Given the description of an element on the screen output the (x, y) to click on. 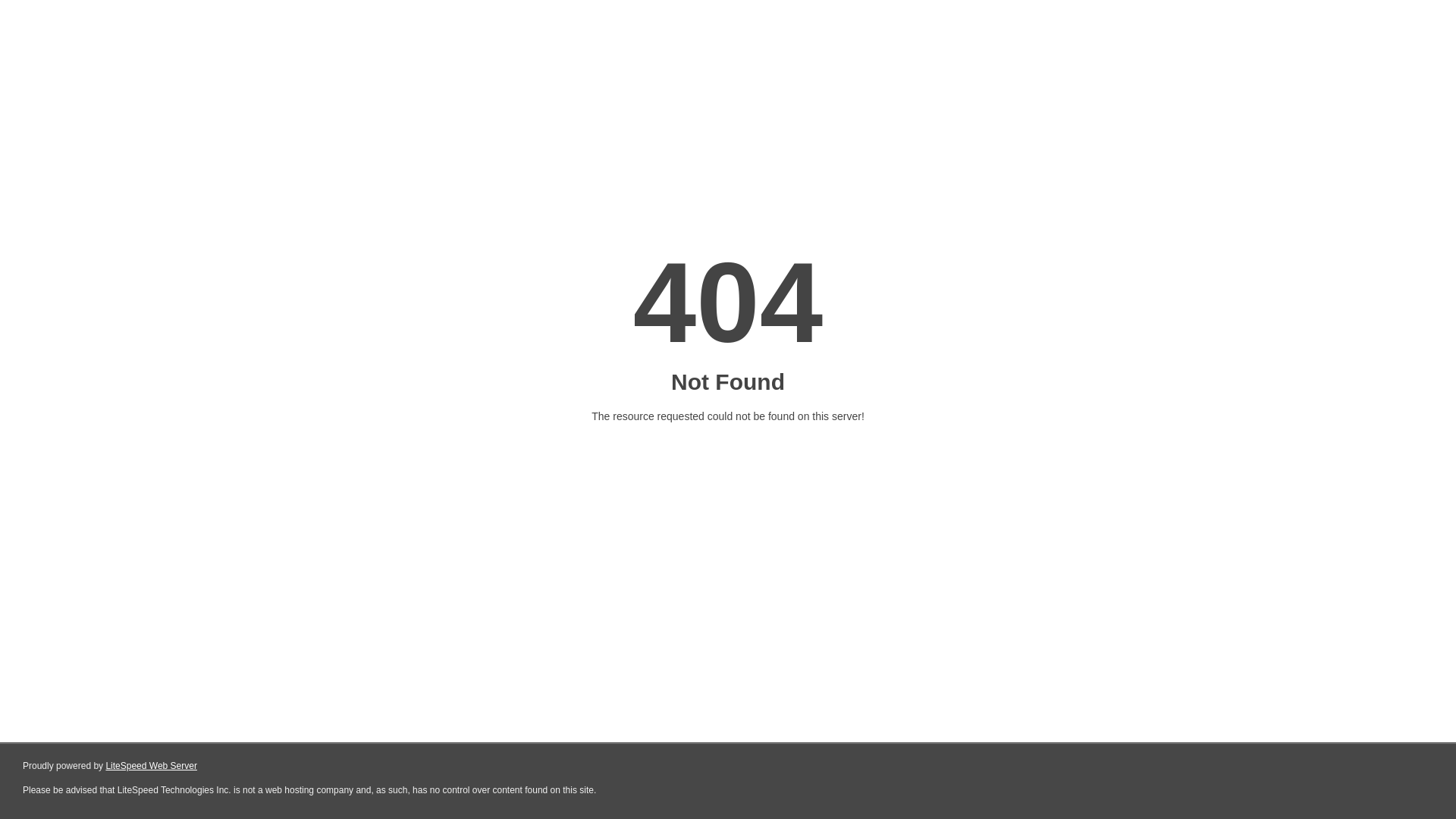
LiteSpeed Web Server Element type: text (151, 765)
